Given the description of an element on the screen output the (x, y) to click on. 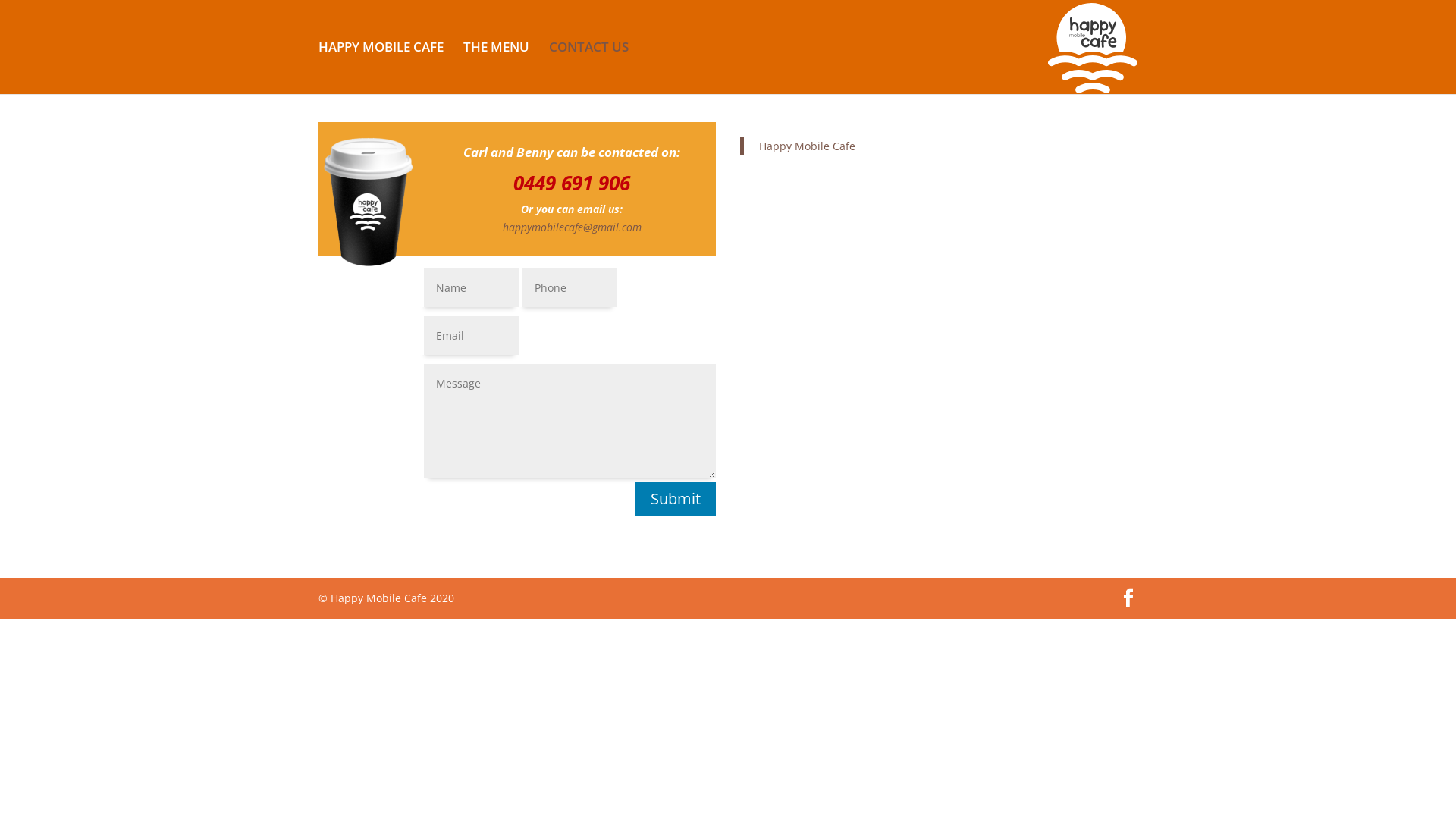
THE MENU Element type: text (496, 67)
happymobilecafe@gmail.com Element type: text (571, 226)
CONTACT US Element type: text (588, 67)
0449 691 906 Element type: text (571, 182)
Submit Element type: text (675, 498)
Happy Mobile Cafe Element type: text (807, 145)
HAPPY MOBILE CAFE Element type: text (380, 67)
